Given the description of an element on the screen output the (x, y) to click on. 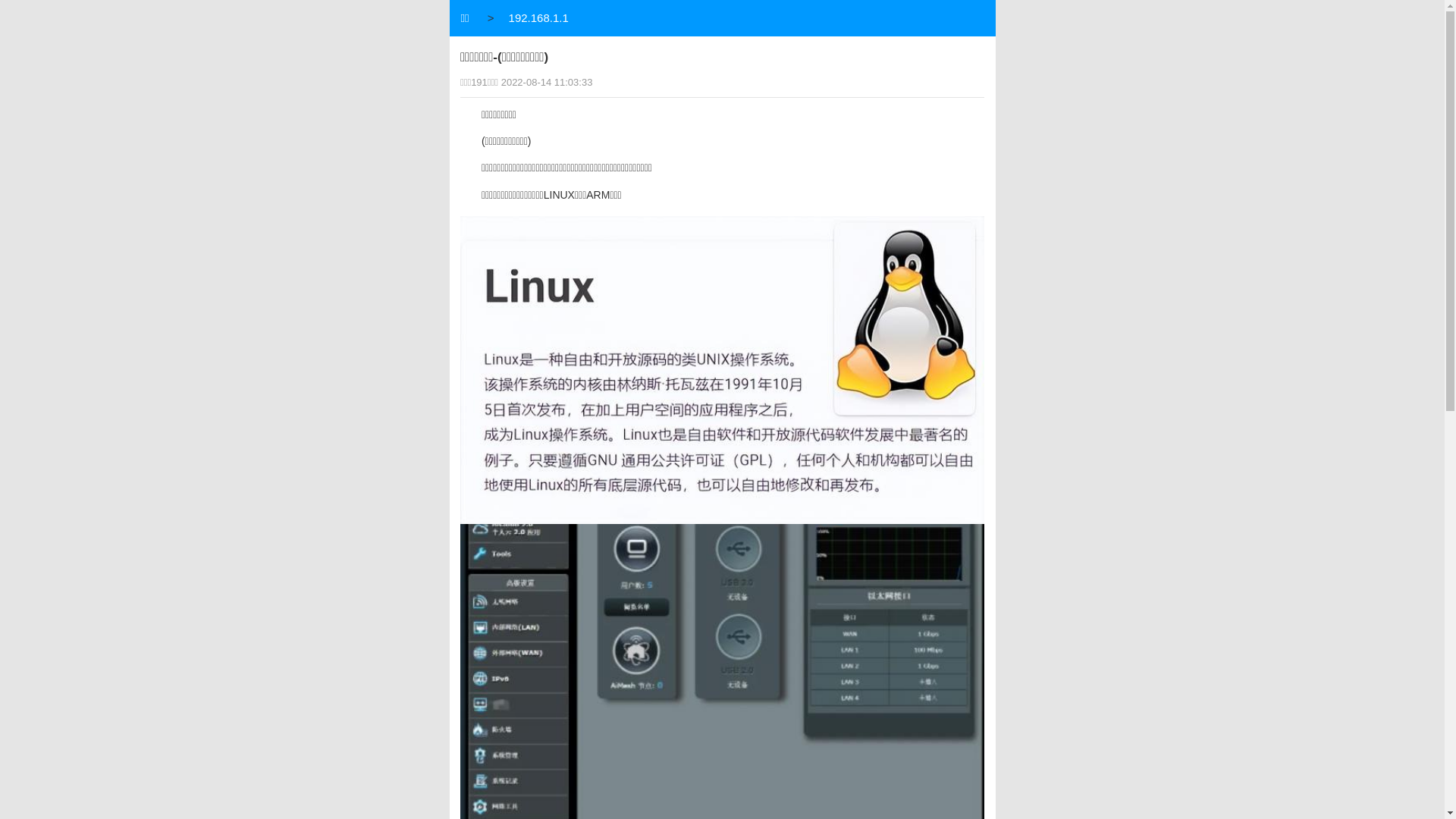
192.168.1.1 Element type: text (540, 18)
